Given the description of an element on the screen output the (x, y) to click on. 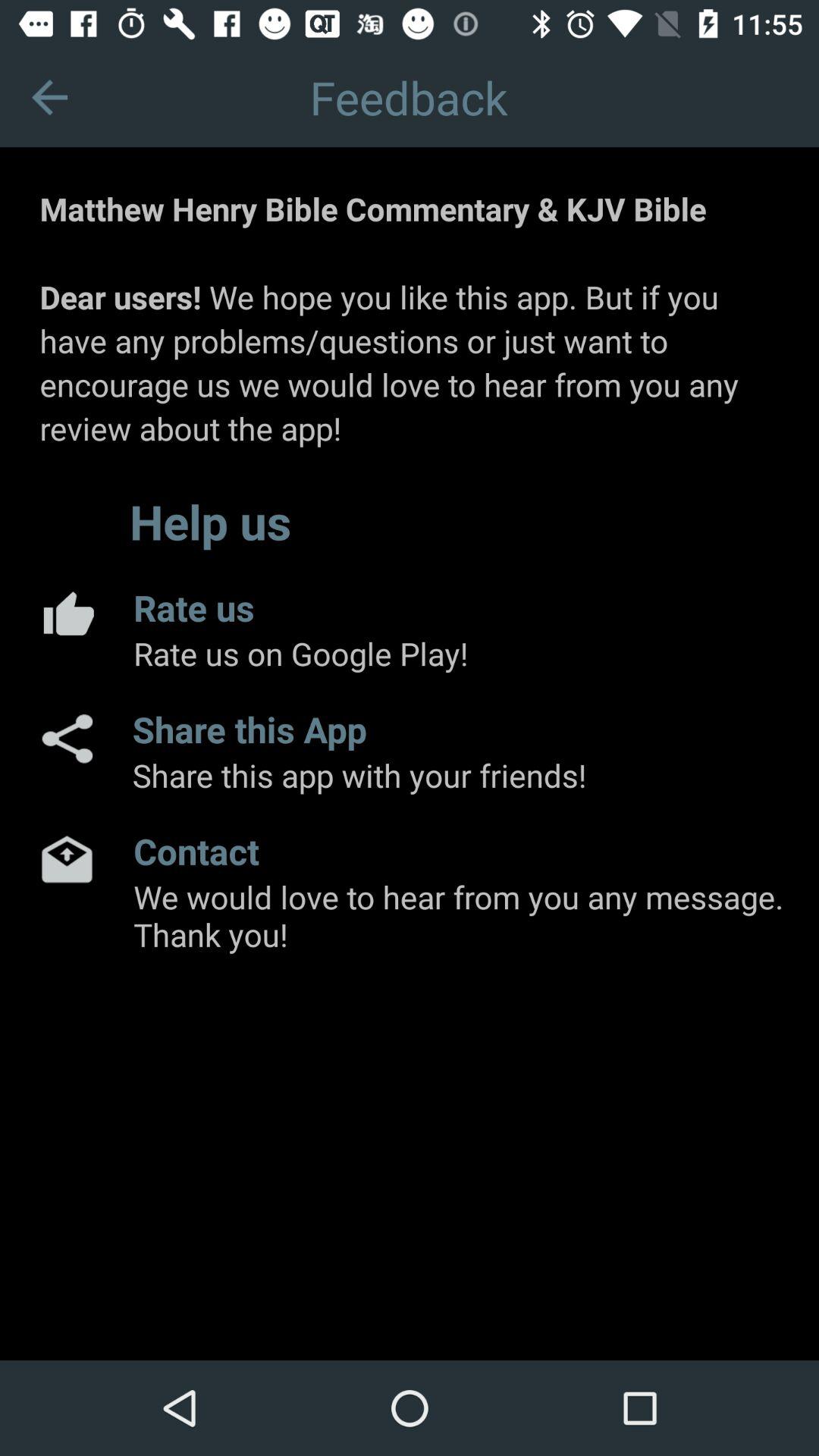
click app to the left of contact item (66, 858)
